Given the description of an element on the screen output the (x, y) to click on. 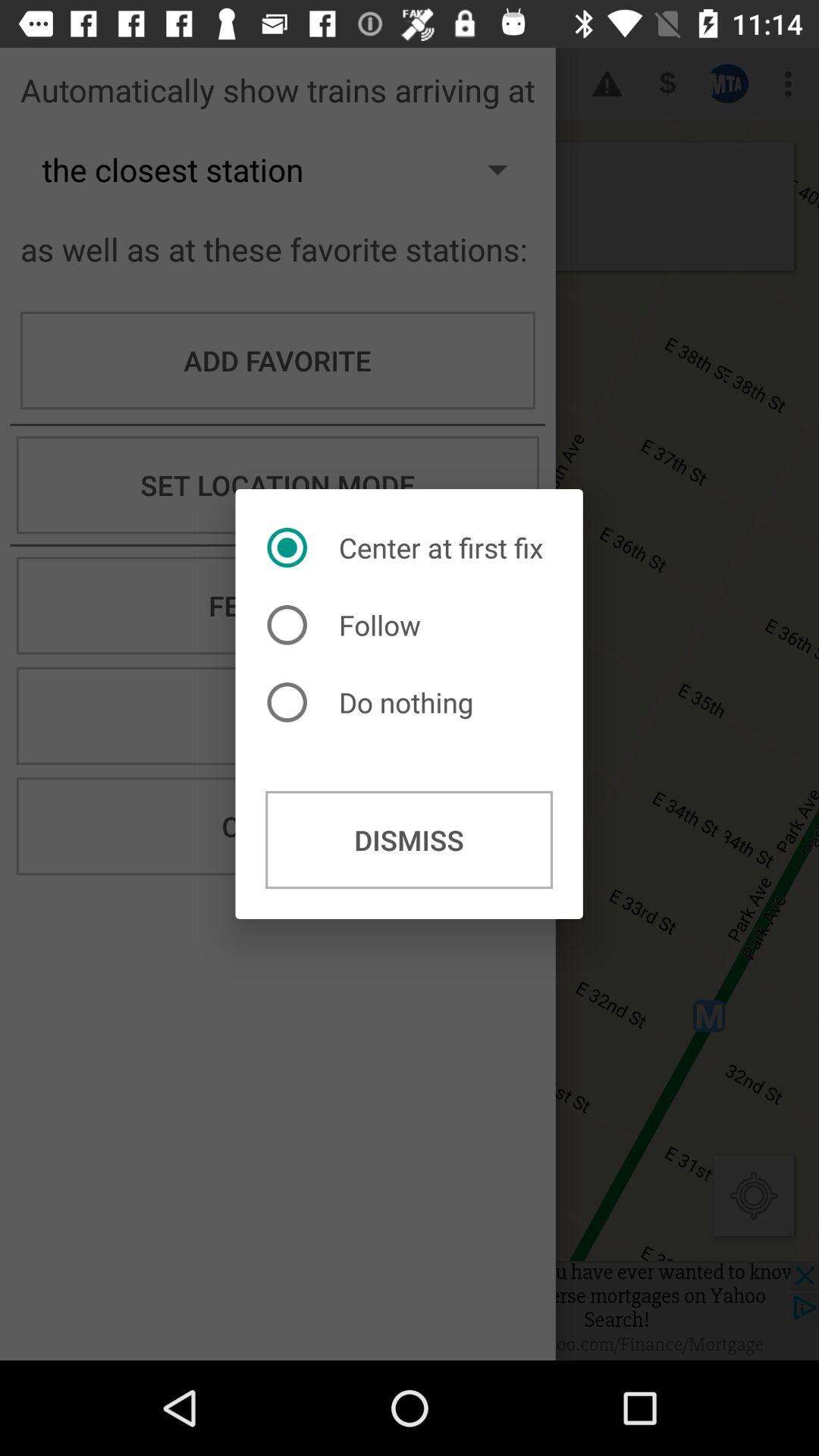
open the item above dismiss button (374, 702)
